Given the description of an element on the screen output the (x, y) to click on. 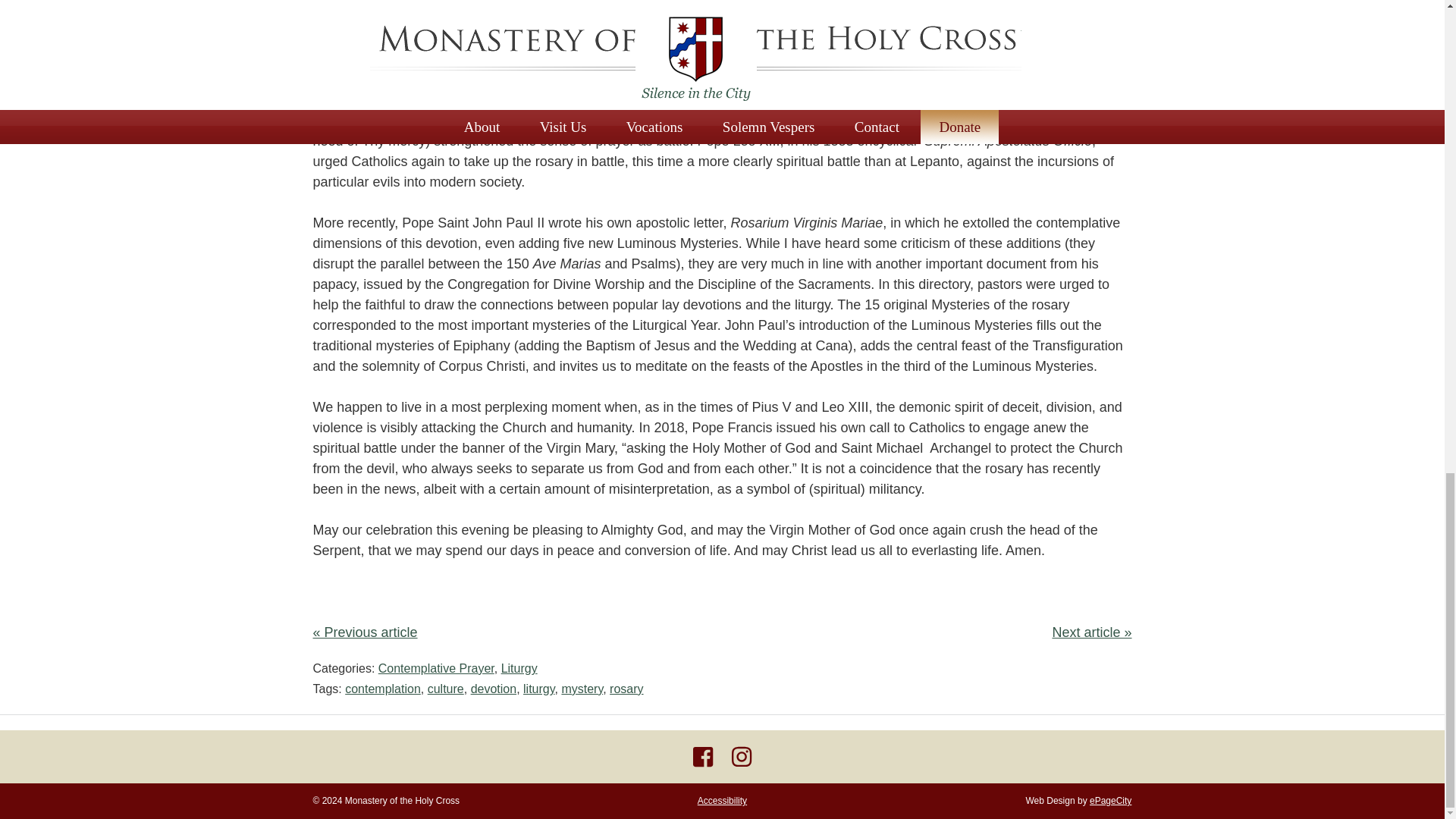
liturgy (538, 688)
Accessibility (721, 800)
Contemplative Prayer (436, 667)
rosary (626, 688)
culture (446, 688)
Liturgy (518, 667)
contemplation (382, 688)
devotion (493, 688)
mystery (581, 688)
